Given the description of an element on the screen output the (x, y) to click on. 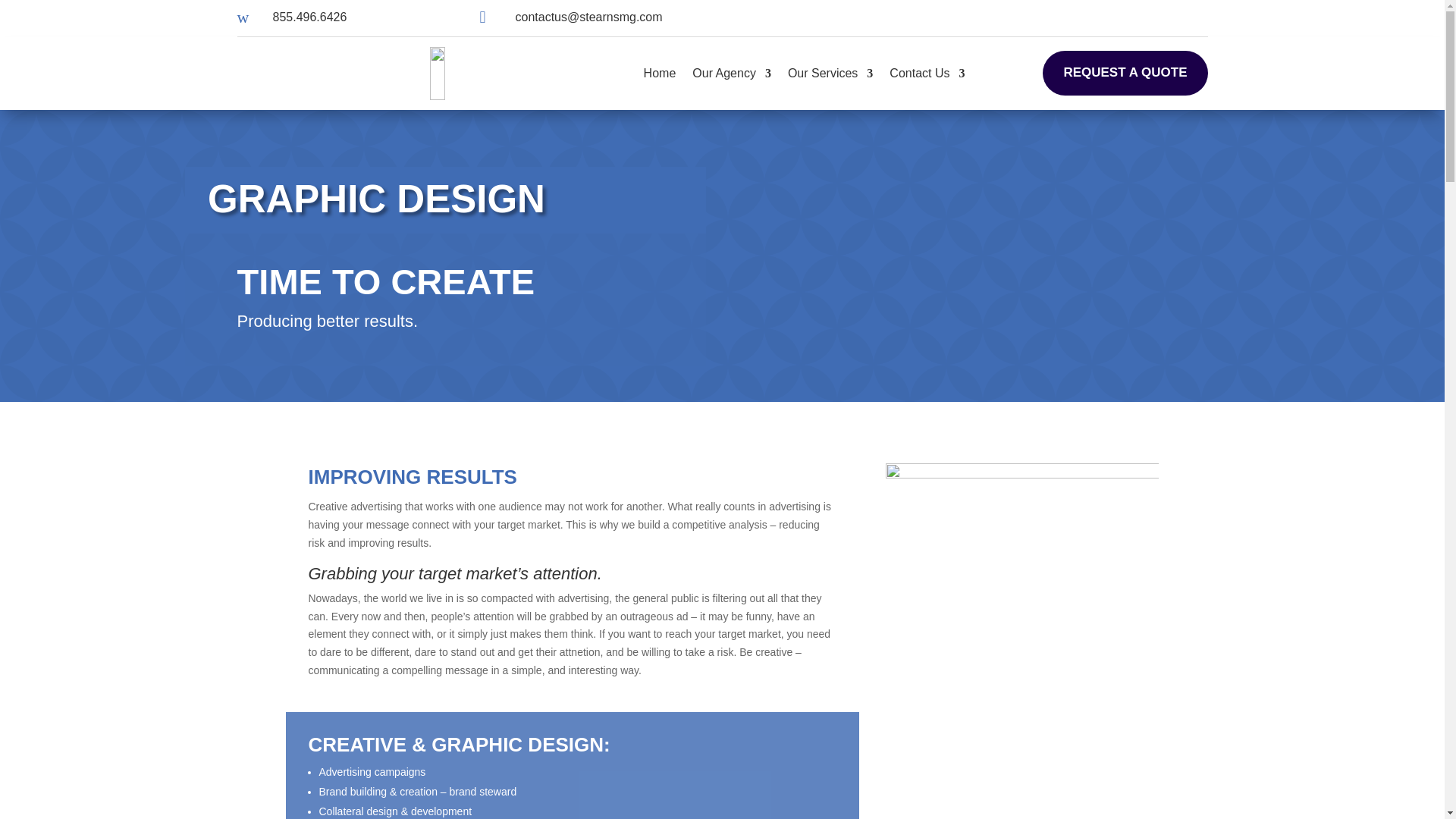
855.496.6426 (310, 16)
Contact Us (926, 73)
REQUEST A QUOTE (1124, 72)
stearnsportfolio (1021, 600)
w (247, 17)
Our Agency (732, 73)
Our Services (829, 73)
